Given the description of an element on the screen output the (x, y) to click on. 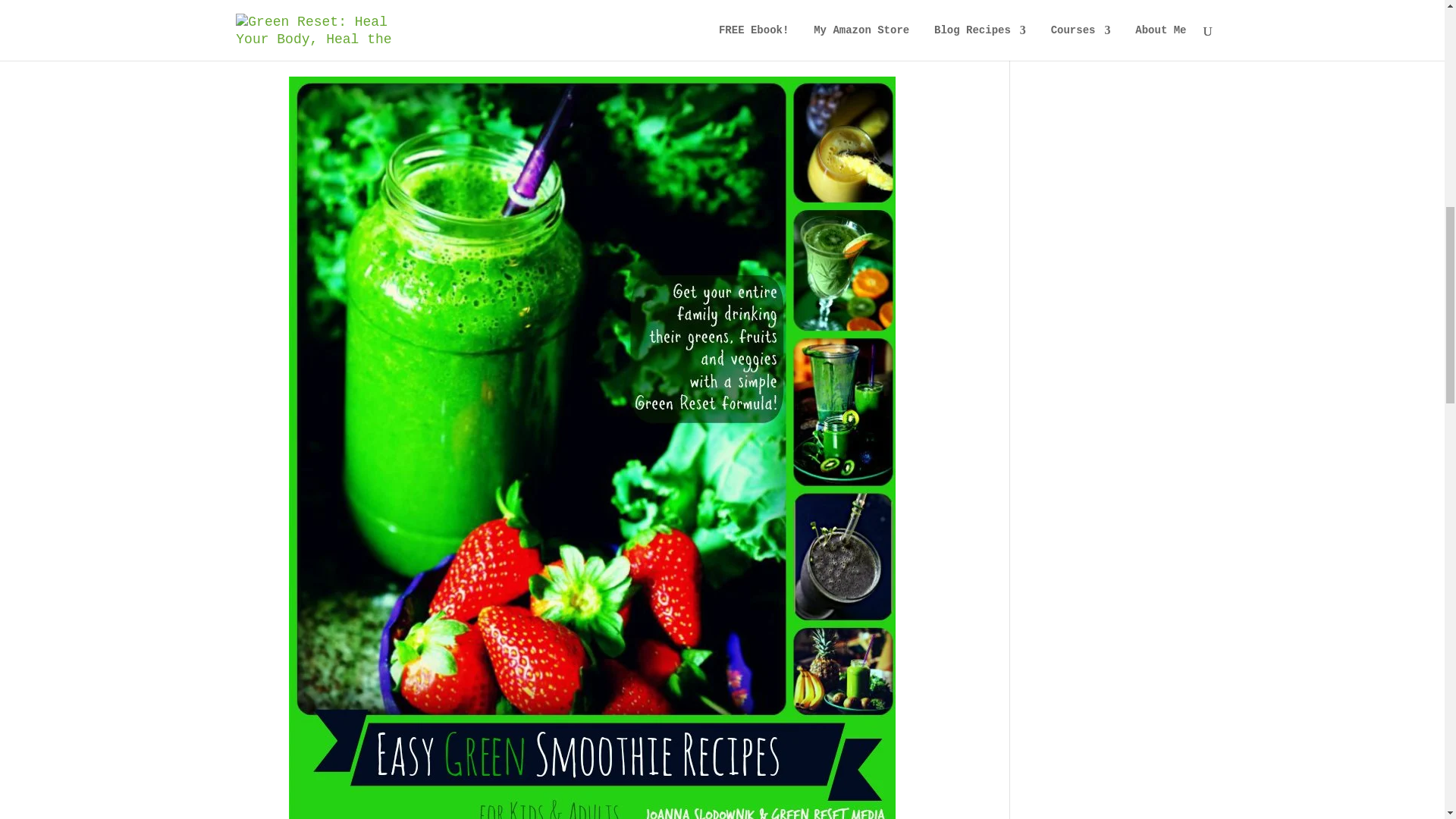
Delicious Kiwi Smoothie Recipes (368, 48)
